Given the description of an element on the screen output the (x, y) to click on. 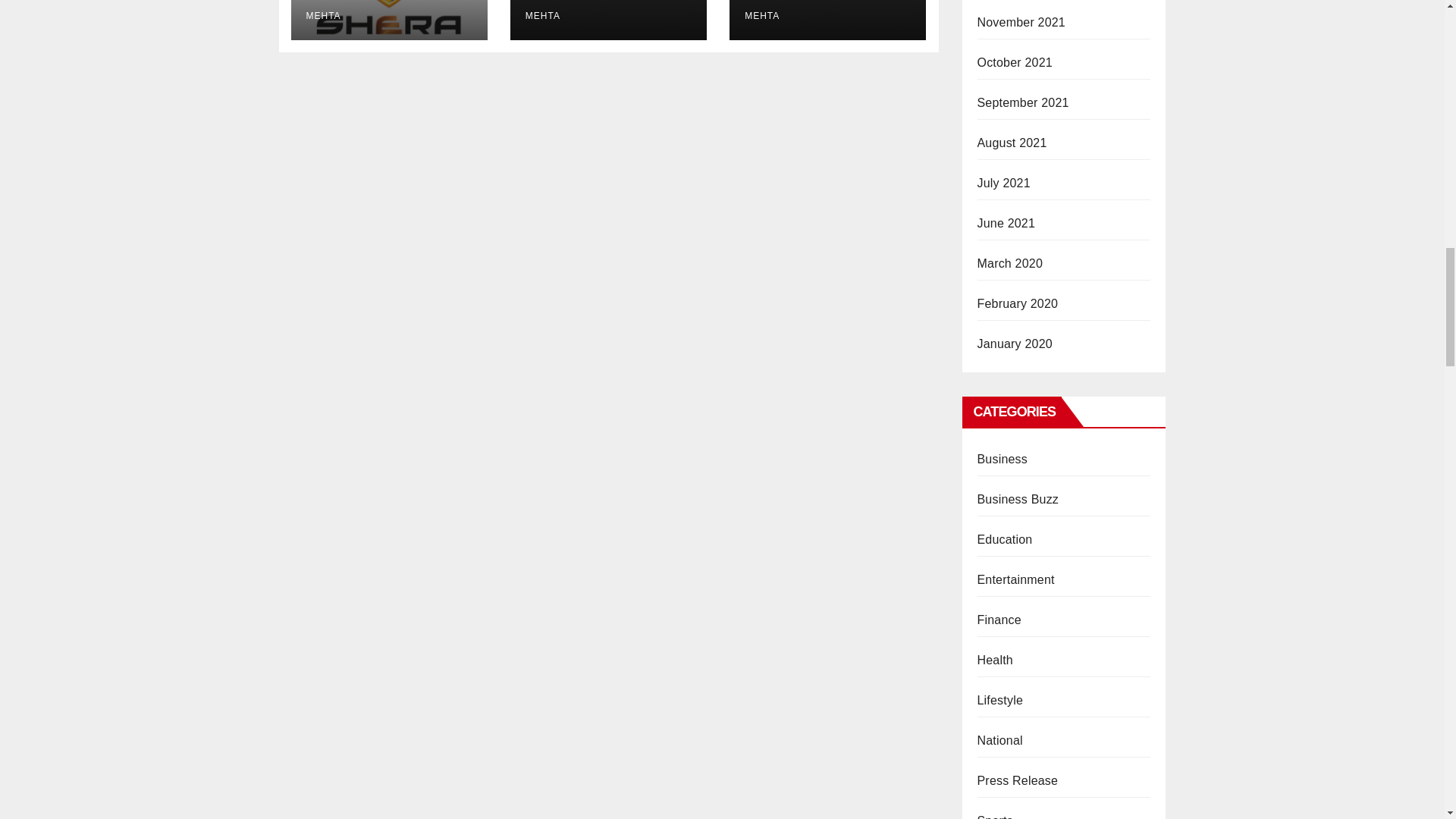
SIDDHARTH MEHTA (376, 10)
